Given the description of an element on the screen output the (x, y) to click on. 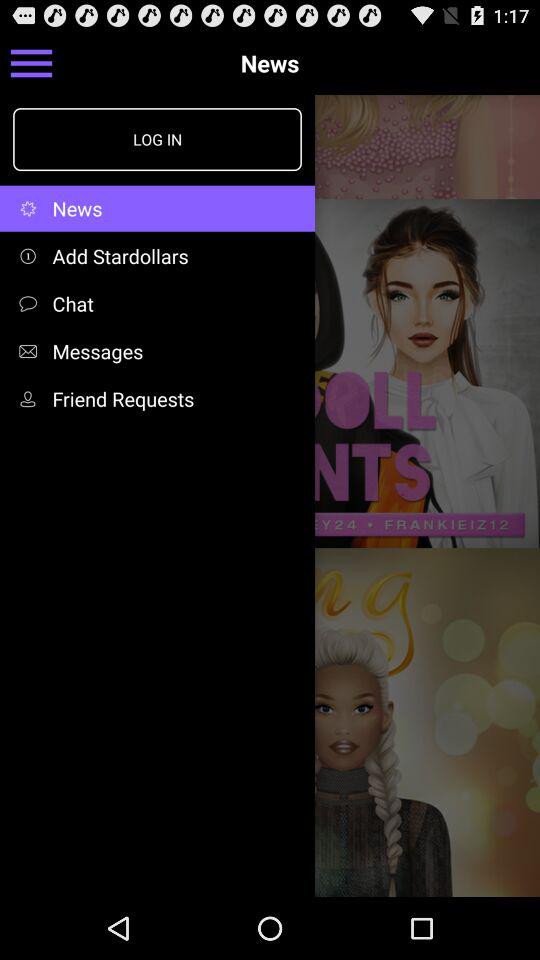
drop down menu button (31, 62)
